Given the description of an element on the screen output the (x, y) to click on. 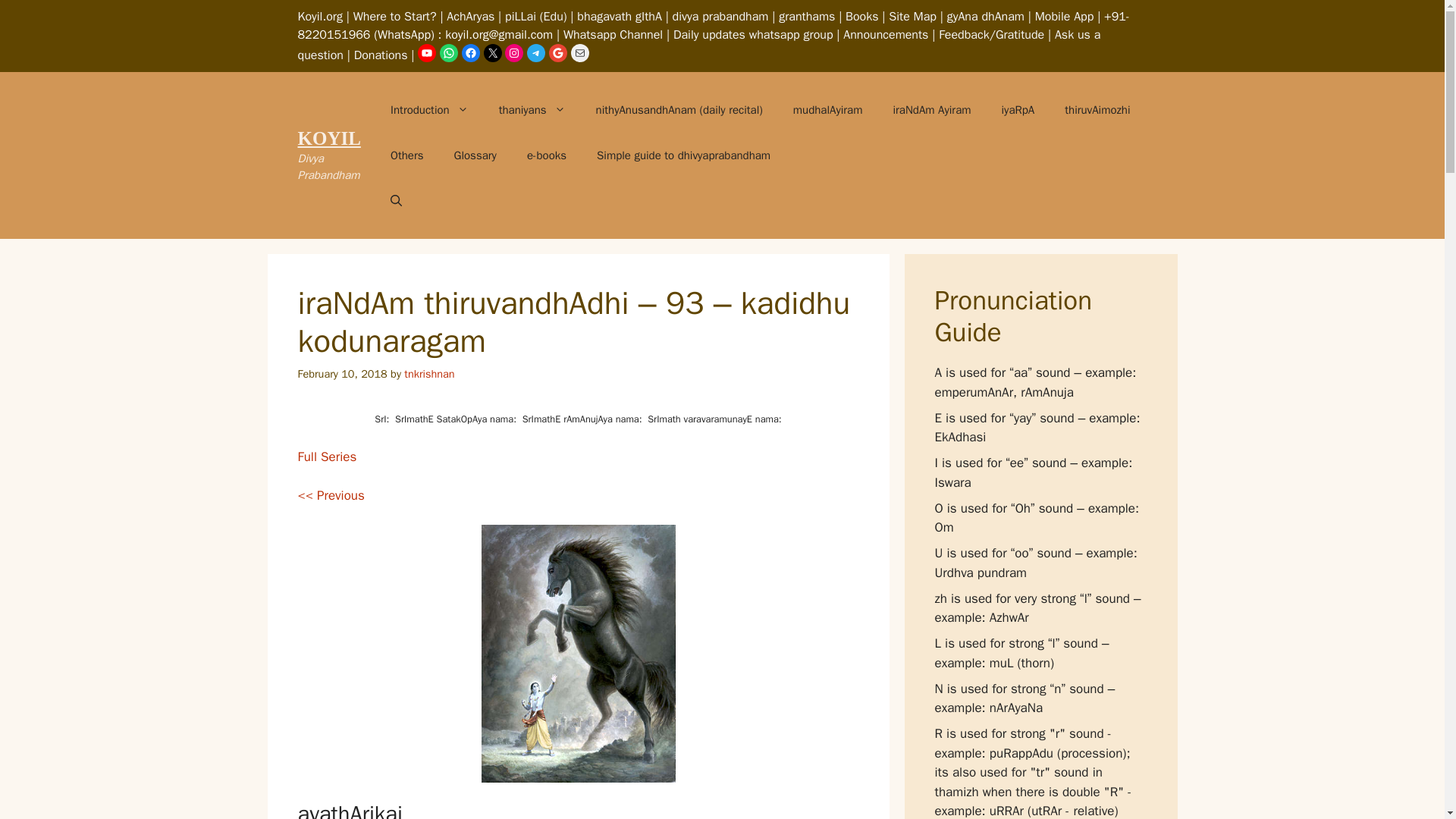
granthams (806, 16)
gyAna dhAnam (986, 16)
Mail (579, 53)
X (492, 53)
AchAryas (470, 16)
Koyil.org (319, 16)
divya prabandham (720, 16)
Facebook (470, 53)
Whatsapp Channel (612, 34)
Where to Start? (394, 16)
